Given the description of an element on the screen output the (x, y) to click on. 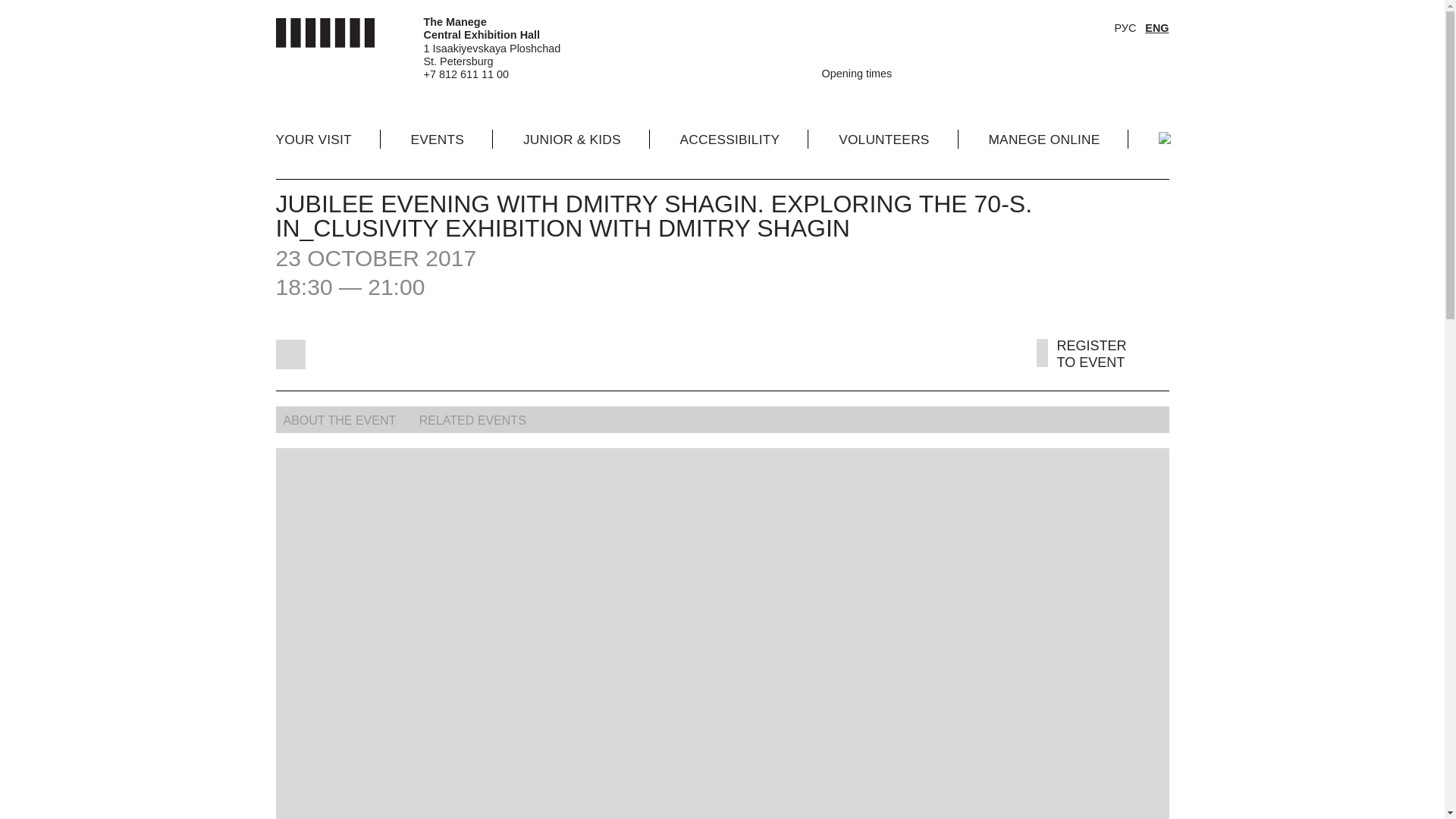
ABOUT THE EVENT (344, 420)
ACCESSIBILITY (729, 138)
EVENTS (437, 138)
RELATED EVENTS (475, 420)
YOUR VISIT (314, 138)
REGISTER TO EVENT (1088, 362)
MANEGE ONLINE (1043, 138)
VOLUNTEERS (883, 138)
ENG (1156, 28)
